Given the description of an element on the screen output the (x, y) to click on. 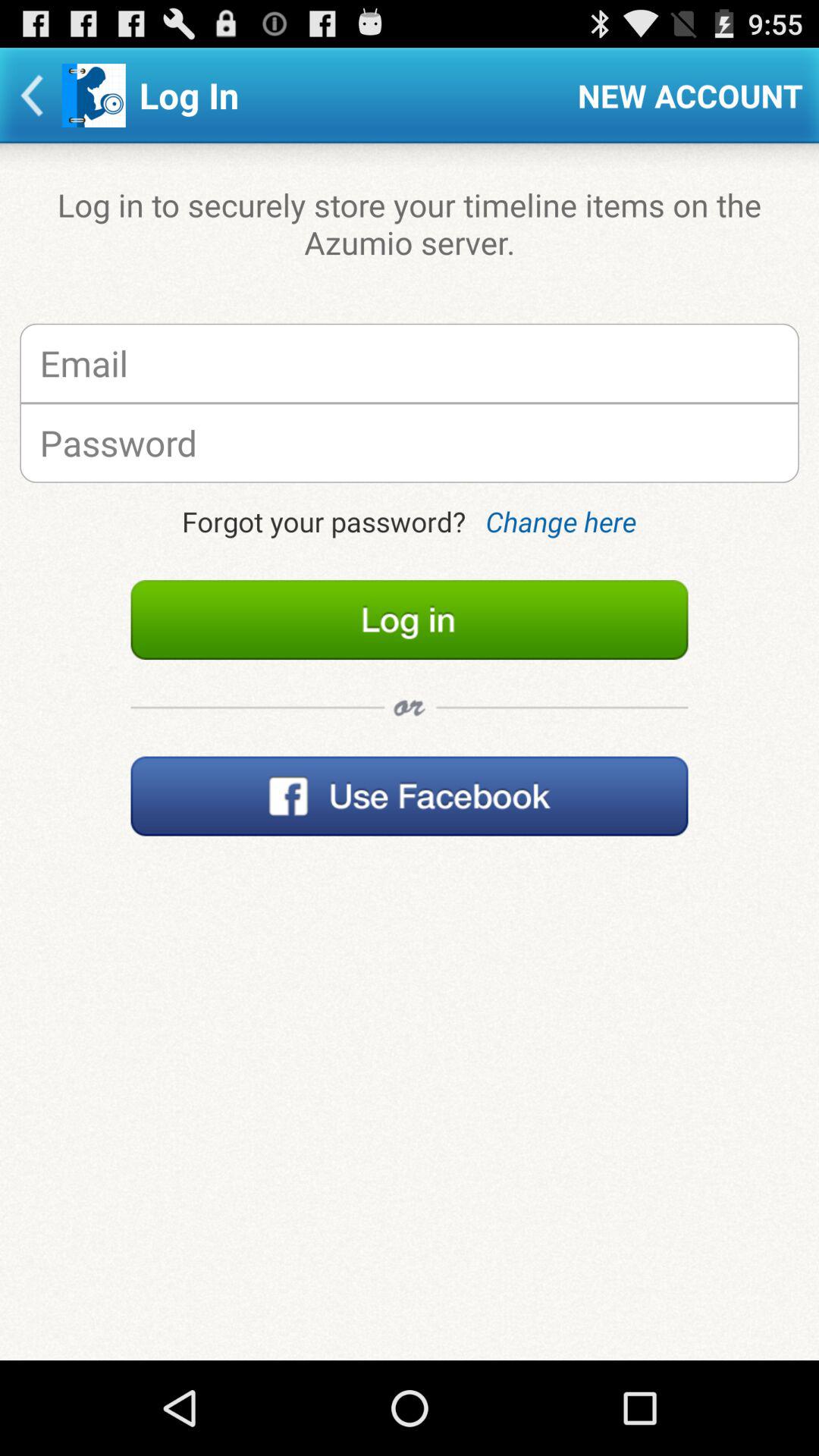
email address (409, 363)
